Given the description of an element on the screen output the (x, y) to click on. 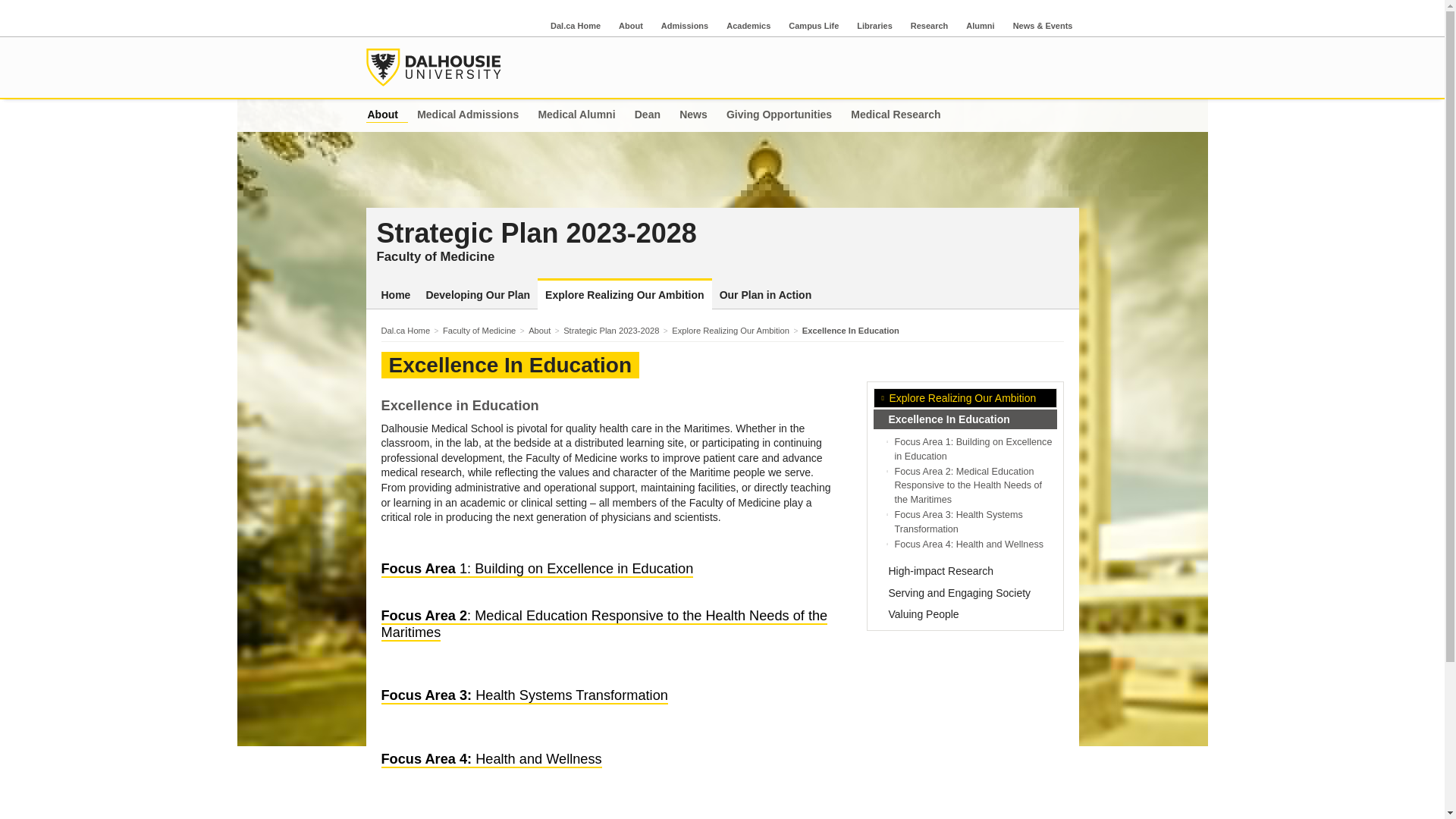
Faculty of Medicine (483, 329)
Alumni (979, 25)
About (543, 329)
Focus Area 1: Building on Excellence in Education (973, 448)
Academics (748, 25)
Admissions (684, 25)
Focus Area 3: Health Systems Transformation (523, 695)
Valuing People (965, 614)
